Given the description of an element on the screen output the (x, y) to click on. 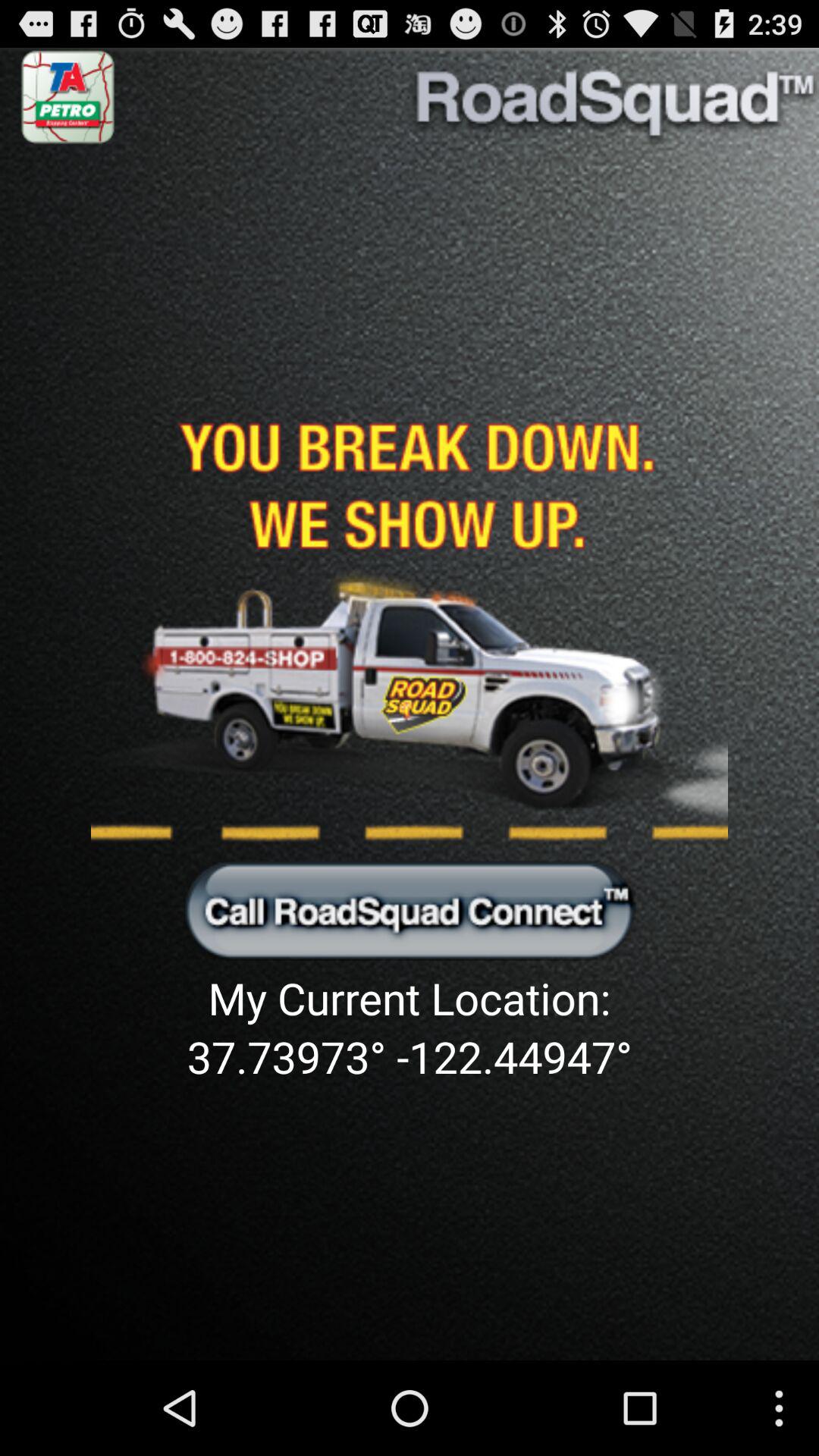
choose the icon above my current location: icon (409, 909)
